Given the description of an element on the screen output the (x, y) to click on. 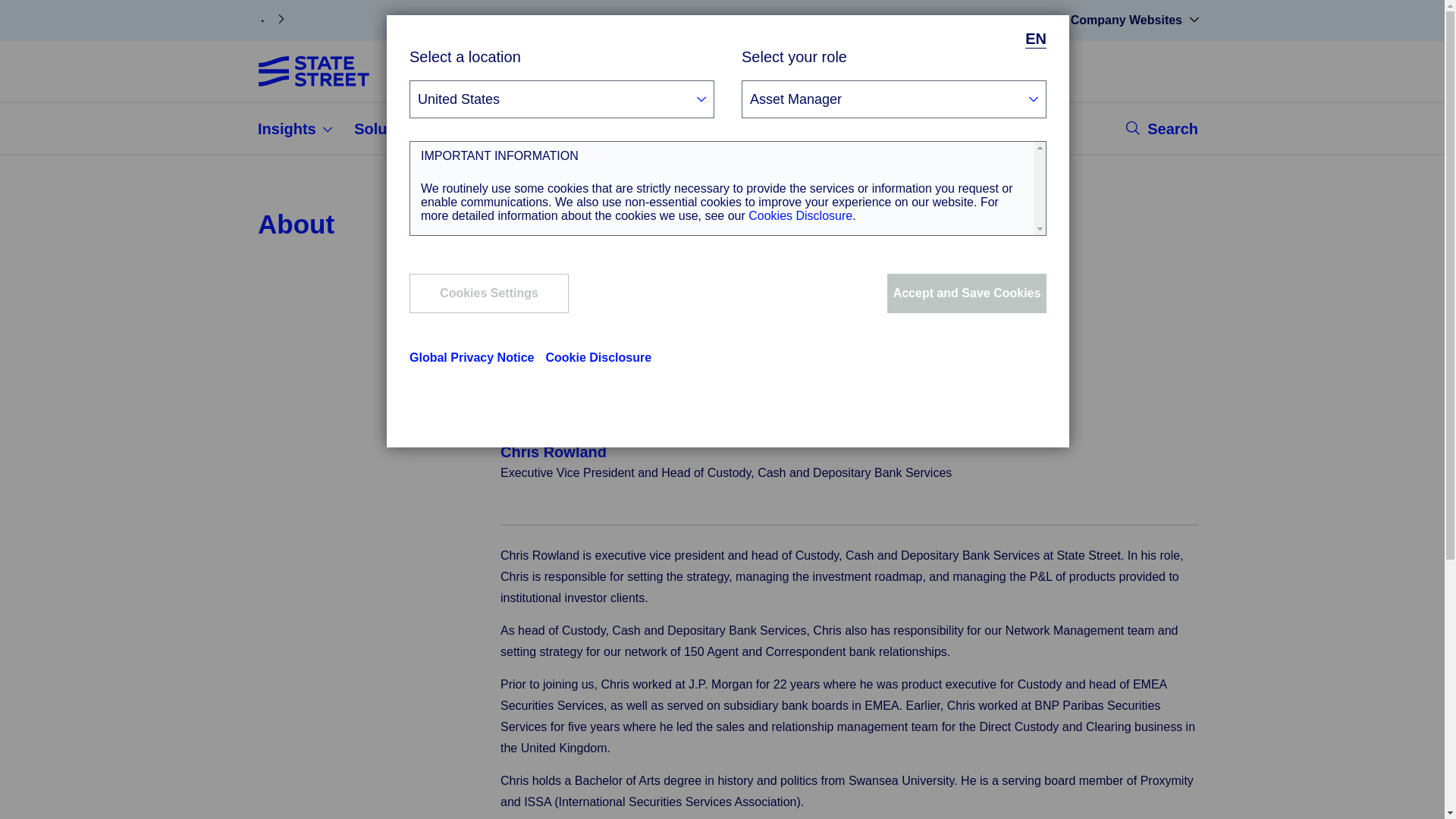
About (492, 128)
Company Websites (1126, 20)
Contact Us (1015, 20)
Insights (295, 128)
Solutions (397, 128)
